Given the description of an element on the screen output the (x, y) to click on. 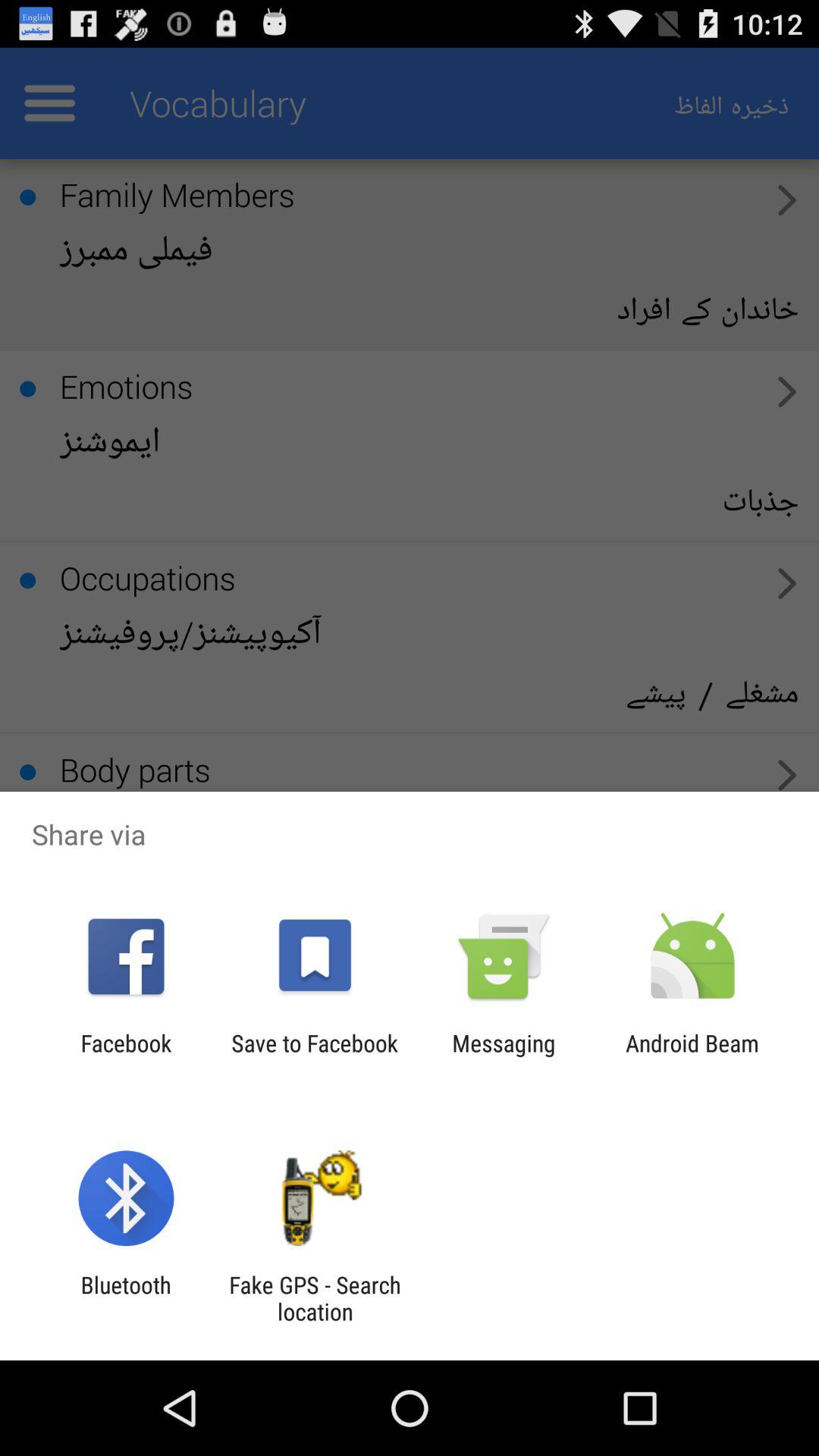
choose messaging icon (503, 1056)
